Given the description of an element on the screen output the (x, y) to click on. 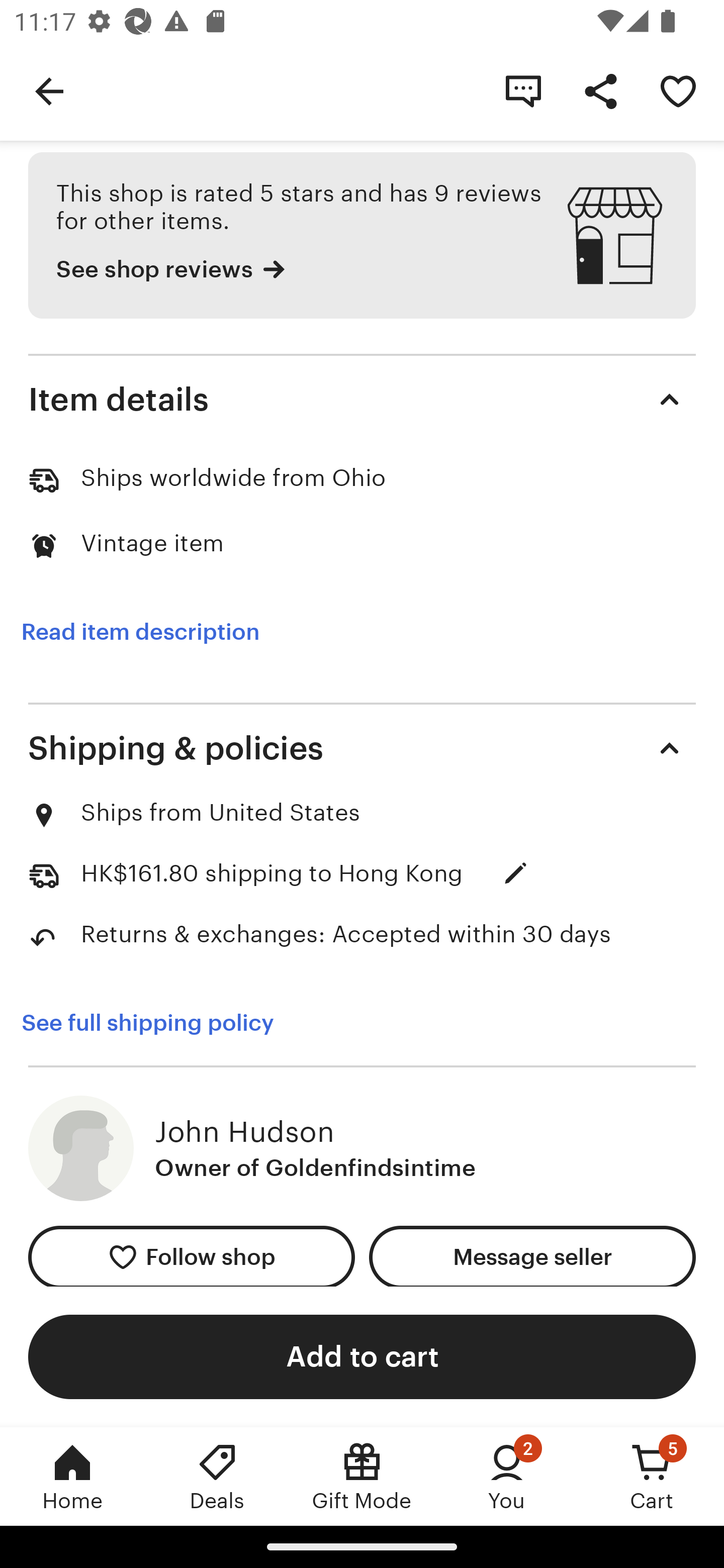
Navigate up (49, 90)
Contact shop (523, 90)
Share (600, 90)
Item details (362, 399)
Read item description (140, 631)
Shipping & policies (362, 747)
Update (515, 873)
See full shipping policy (147, 1022)
Follow shop Follow Goldenfindsintime (191, 1257)
Message seller (532, 1257)
Add to cart (361, 1355)
Deals (216, 1475)
Gift Mode (361, 1475)
You, 2 new notifications You (506, 1475)
Cart, 5 new notifications Cart (651, 1475)
